Given the description of an element on the screen output the (x, y) to click on. 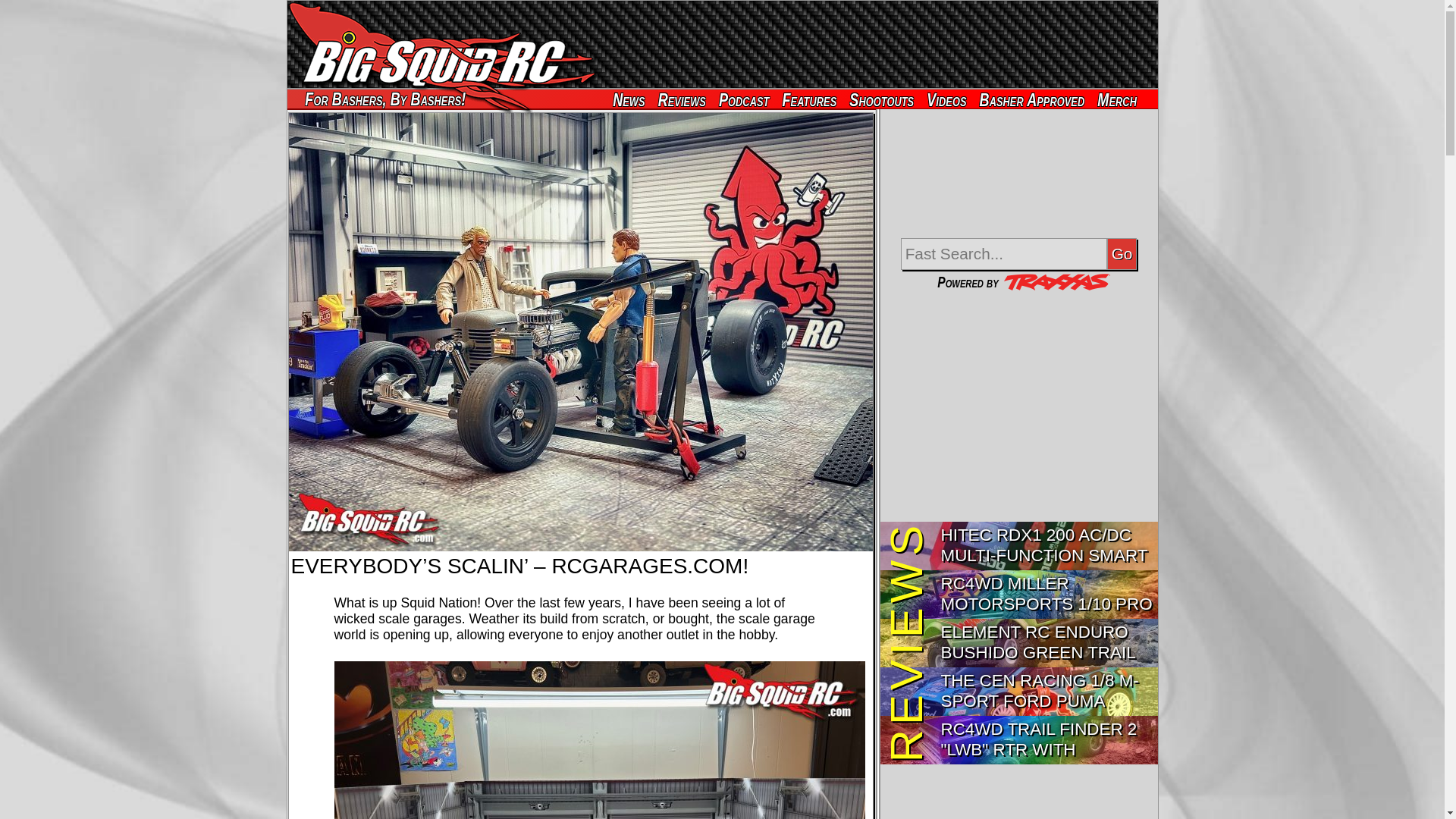
Go (1121, 254)
Go (1121, 254)
Fast Search... (1003, 254)
Go (1121, 254)
Features (819, 99)
Reviews (690, 99)
Basher Approved (1049, 99)
Videos (953, 99)
Podcast (752, 99)
3rd party ad content (1018, 178)
3rd party ad content (878, 44)
3rd party ad content (1018, 407)
News (634, 99)
Merch (1123, 99)
